Given the description of an element on the screen output the (x, y) to click on. 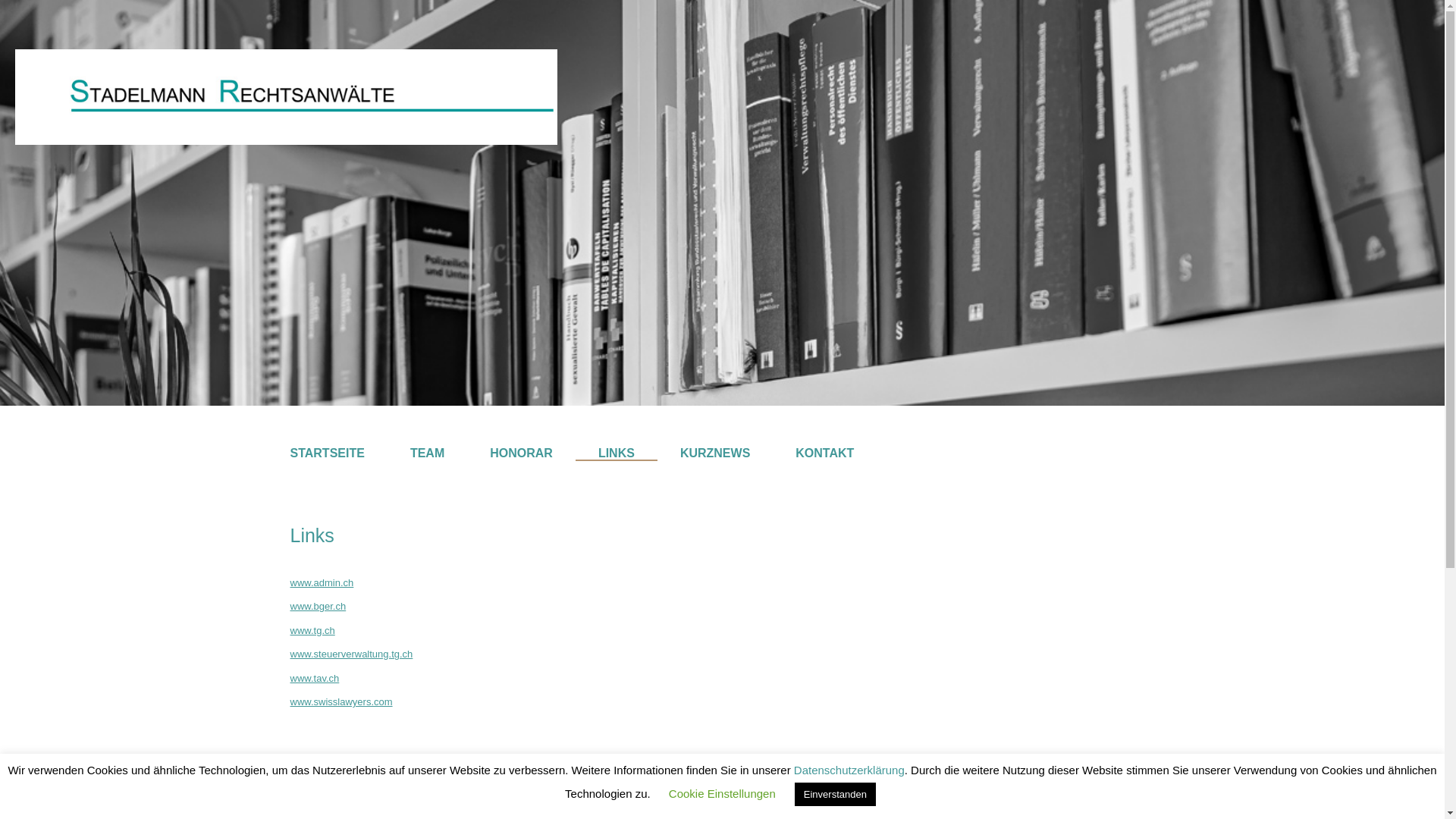
TEAM Element type: text (427, 452)
LINKS Element type: text (616, 453)
www.admin.ch Element type: text (321, 582)
www.tav.ch Element type: text (313, 678)
www.steuerverwaltung.tg.ch Element type: text (350, 653)
HONORAR Element type: text (521, 452)
Cookie Einstellungen Element type: text (721, 793)
Zum Inhalt springen Element type: text (11, 31)
www.tg.ch Element type: text (311, 630)
KURZNEWS Element type: text (714, 452)
STARTSEITE Element type: text (326, 452)
www.bger.ch Element type: text (317, 605)
KONTAKT Element type: text (824, 452)
www.swisslawyers.com Element type: text (340, 701)
Einverstanden Element type: text (834, 794)
